Given the description of an element on the screen output the (x, y) to click on. 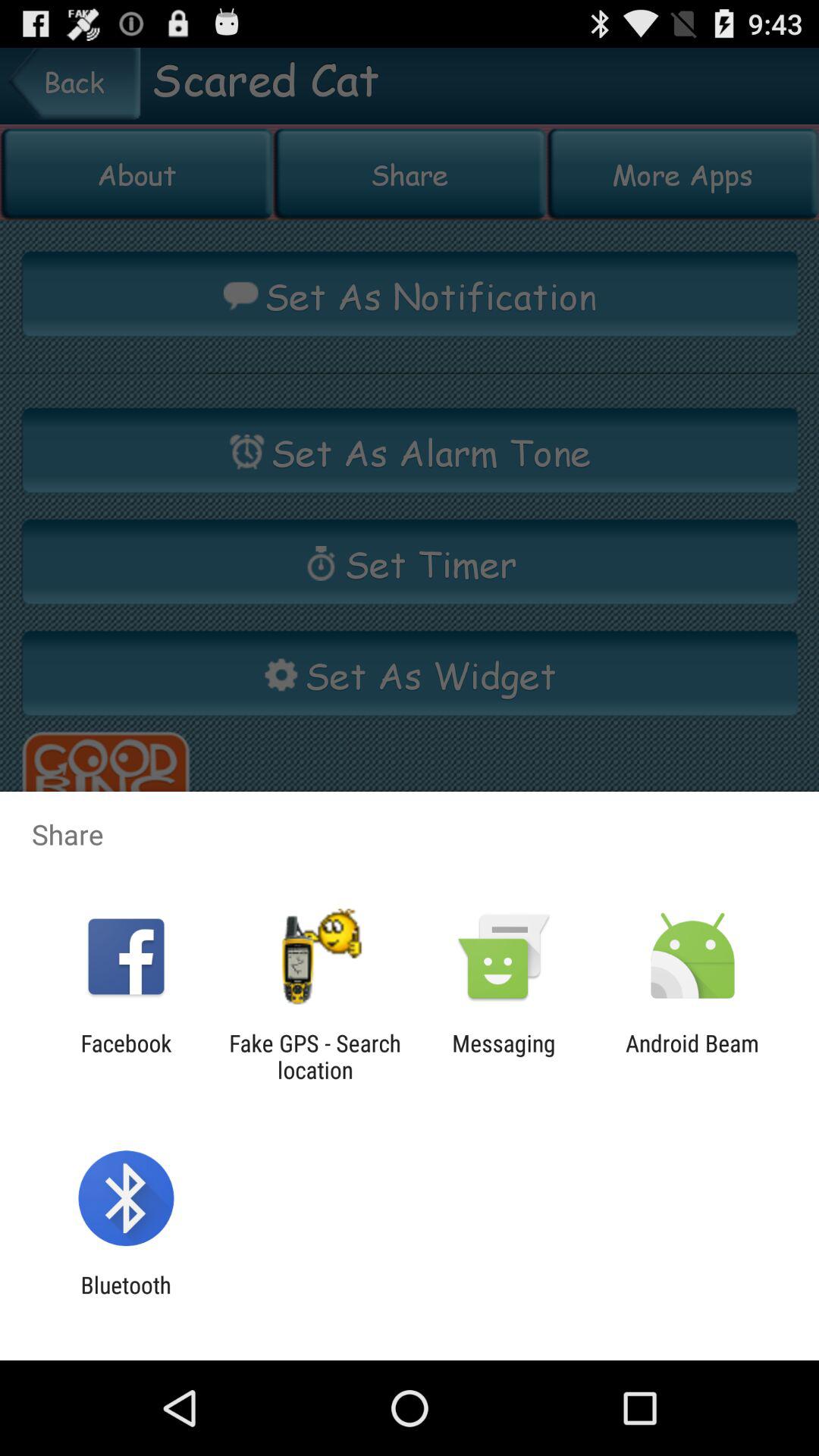
choose item next to fake gps search (503, 1056)
